Given the description of an element on the screen output the (x, y) to click on. 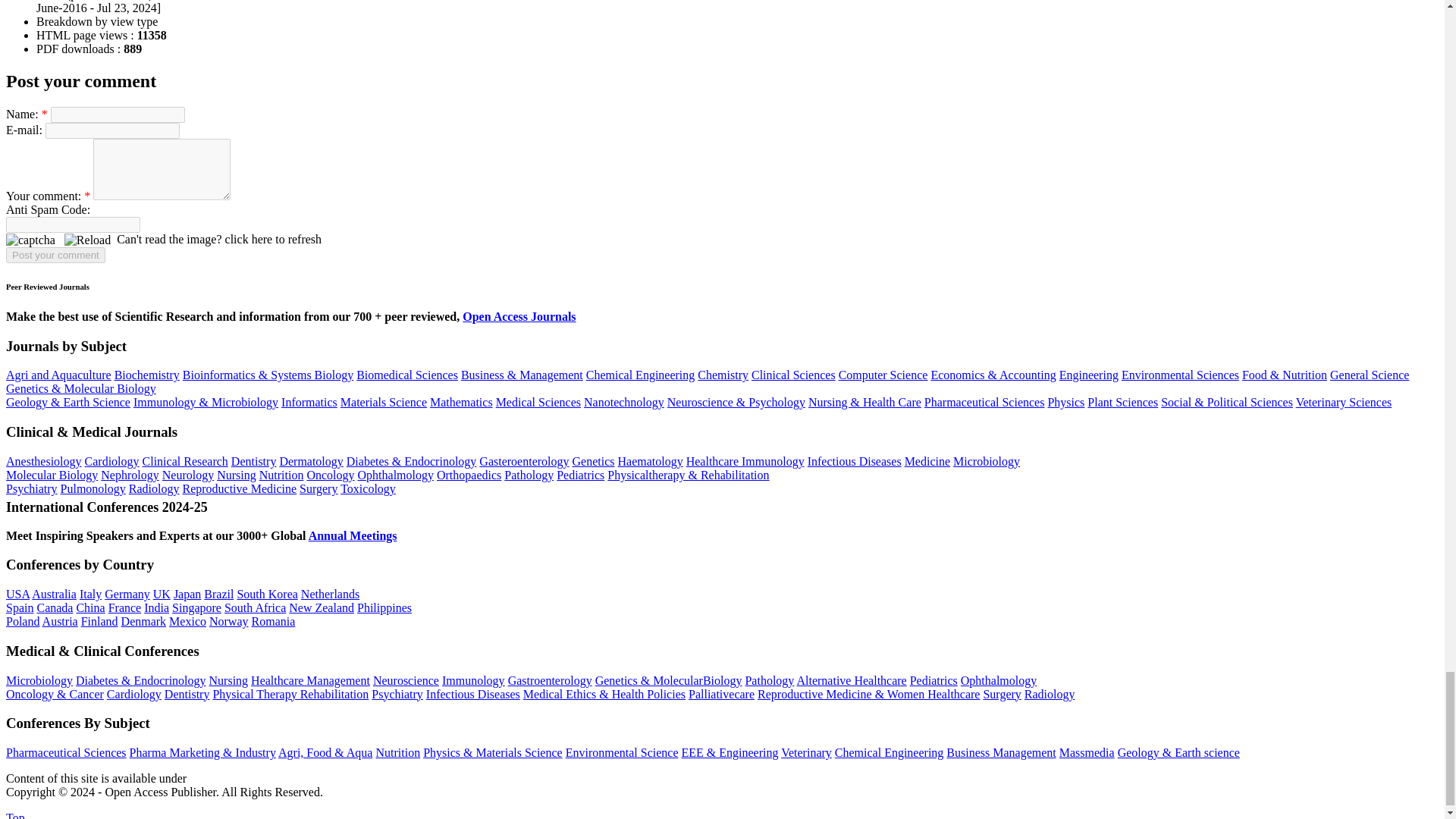
Post your comment (54, 254)
